Given the description of an element on the screen output the (x, y) to click on. 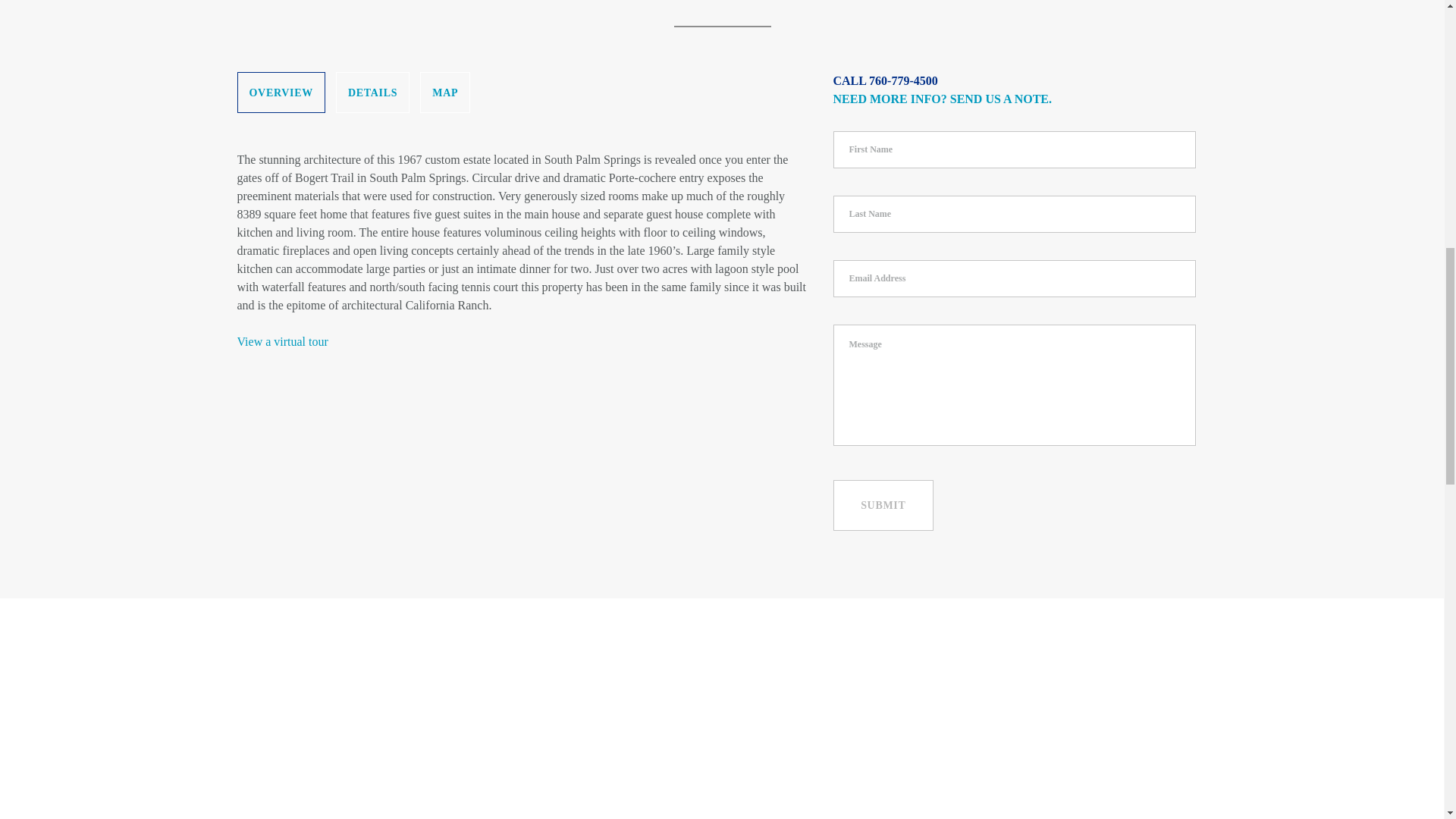
Submit (882, 504)
View a virtual tour (281, 341)
Submit (882, 504)
CALL 760-779-4500 (884, 80)
